Given the description of an element on the screen output the (x, y) to click on. 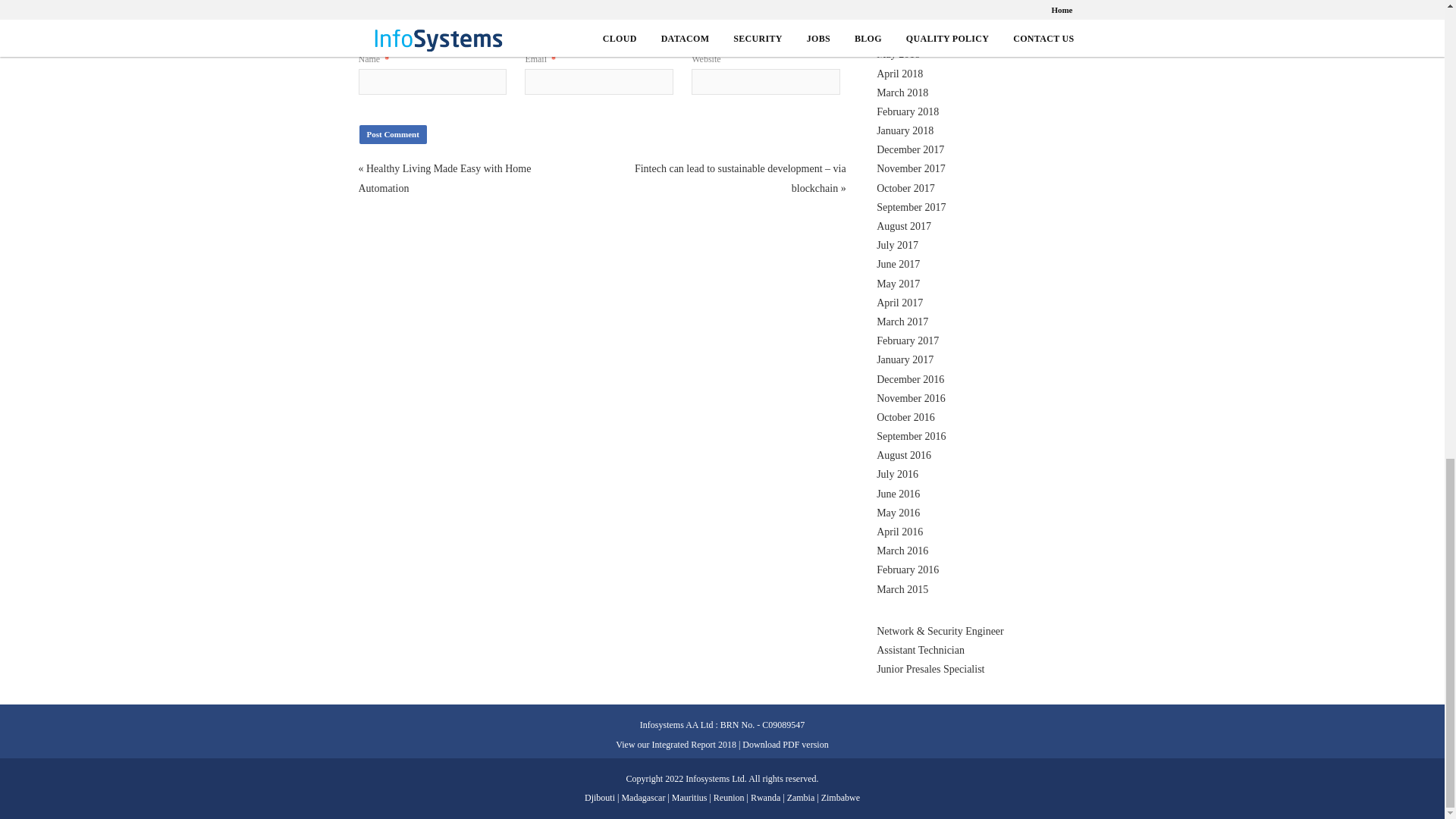
Post Comment (392, 134)
Post Comment (392, 134)
Healthy Living Made Easy with Home Automation (444, 177)
